Given the description of an element on the screen output the (x, y) to click on. 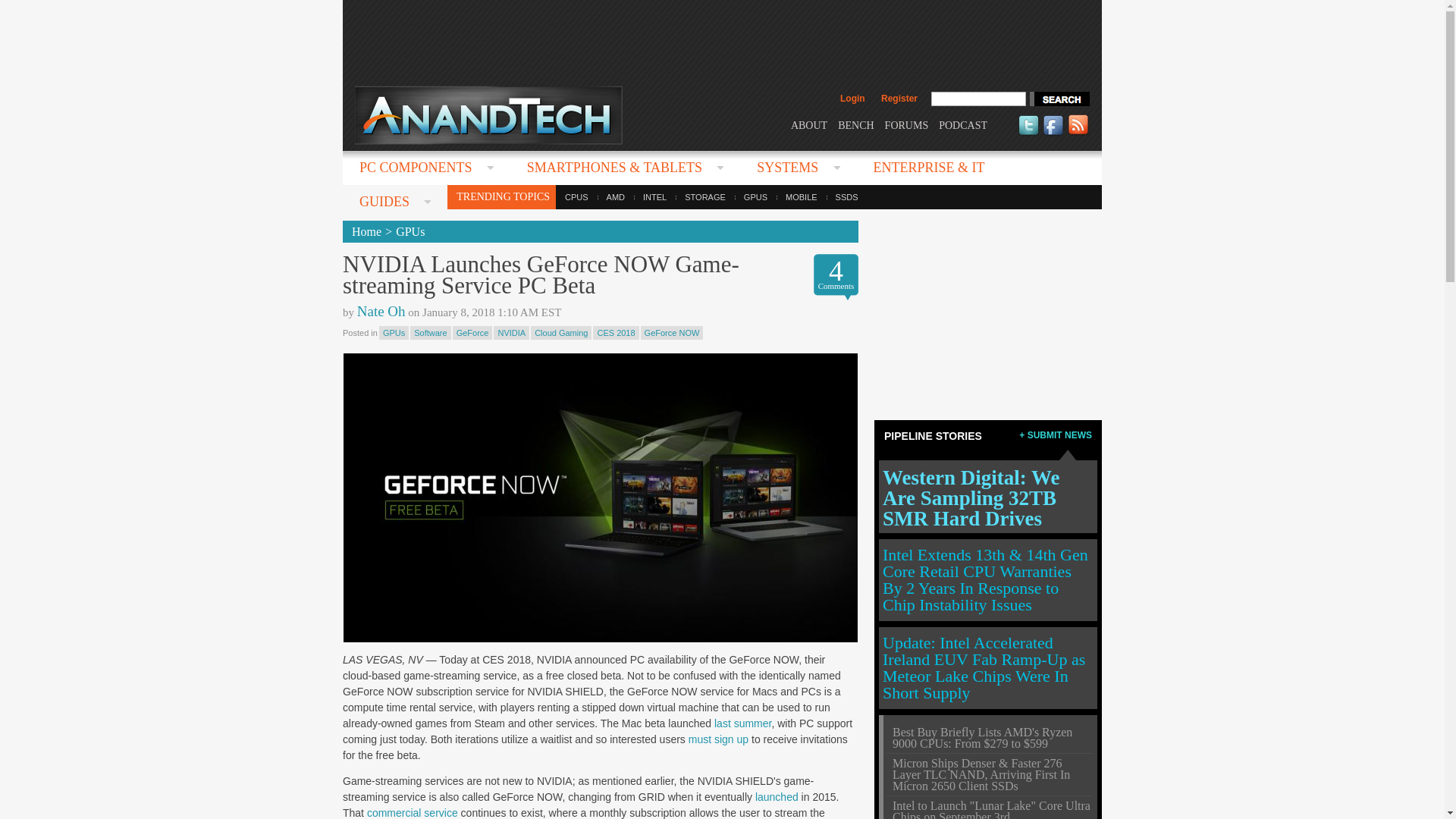
search (1059, 98)
BENCH (855, 125)
Register (898, 98)
search (1059, 98)
Login (852, 98)
FORUMS (906, 125)
ABOUT (808, 125)
search (1059, 98)
PODCAST (963, 125)
